Given the description of an element on the screen output the (x, y) to click on. 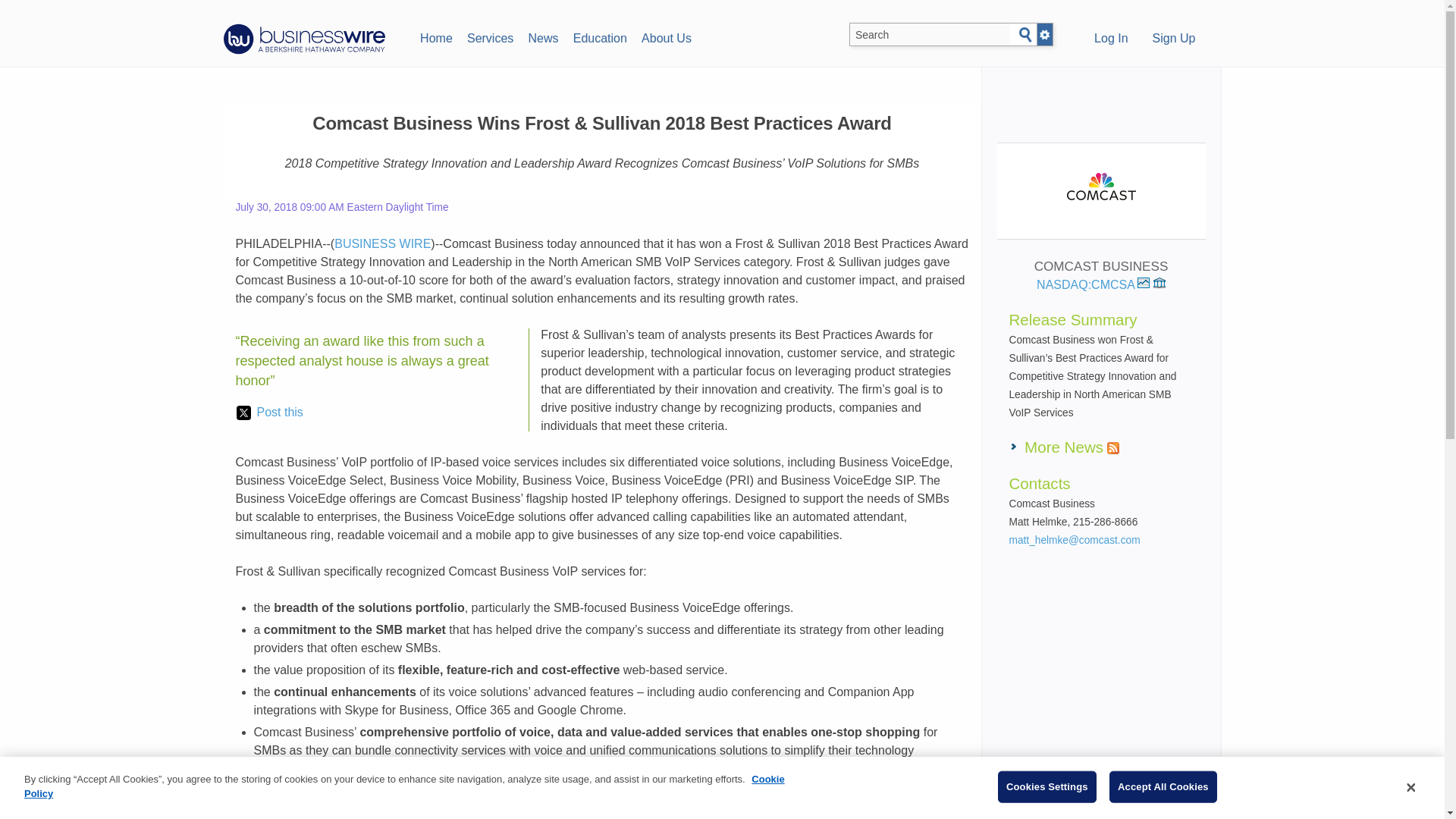
View SEC Filings (1159, 282)
Home (436, 36)
View stock quote and chart (1143, 282)
RSS feed for Comcast Corporation (1112, 448)
News (543, 36)
Education (599, 36)
Search BusinessWire.com (930, 34)
Services (490, 36)
NASDAQ:CMCSA (1093, 284)
Search (1025, 34)
Post this (269, 412)
BUSINESS WIRE (382, 243)
About Us (665, 36)
